Given the description of an element on the screen output the (x, y) to click on. 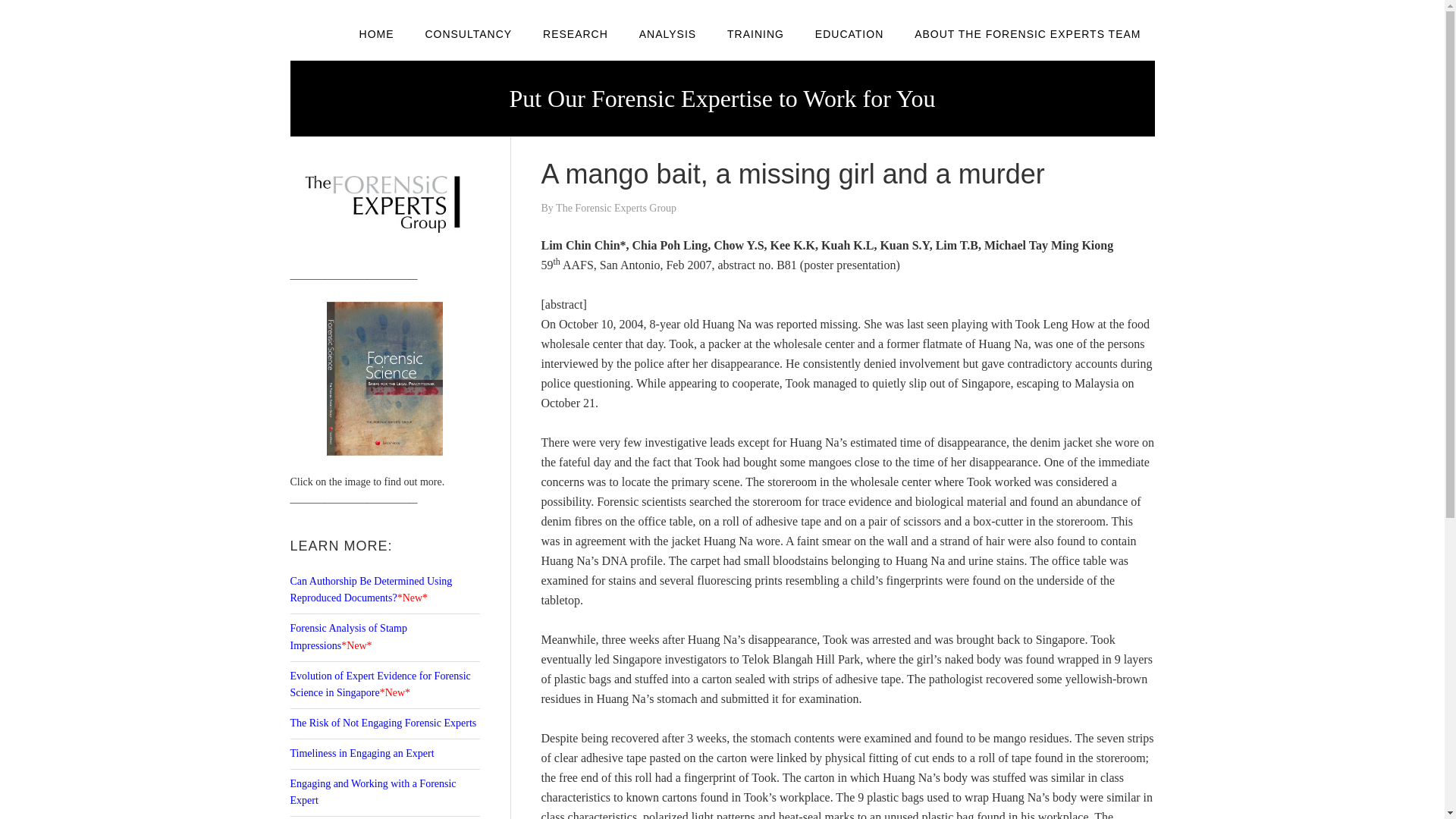
RESEARCH (575, 33)
The Risk of Not Engaging Forensic Experts (382, 722)
Timeliness in Engaging an Expert (361, 753)
HOME (376, 33)
TRAINING (755, 33)
CONSULTANCY (467, 33)
ANALYSIS (668, 33)
ABOUT THE FORENSIC EXPERTS TEAM (1027, 33)
Engaging and Working with a Forensic Expert (372, 792)
EDUCATION (849, 33)
